Given the description of an element on the screen output the (x, y) to click on. 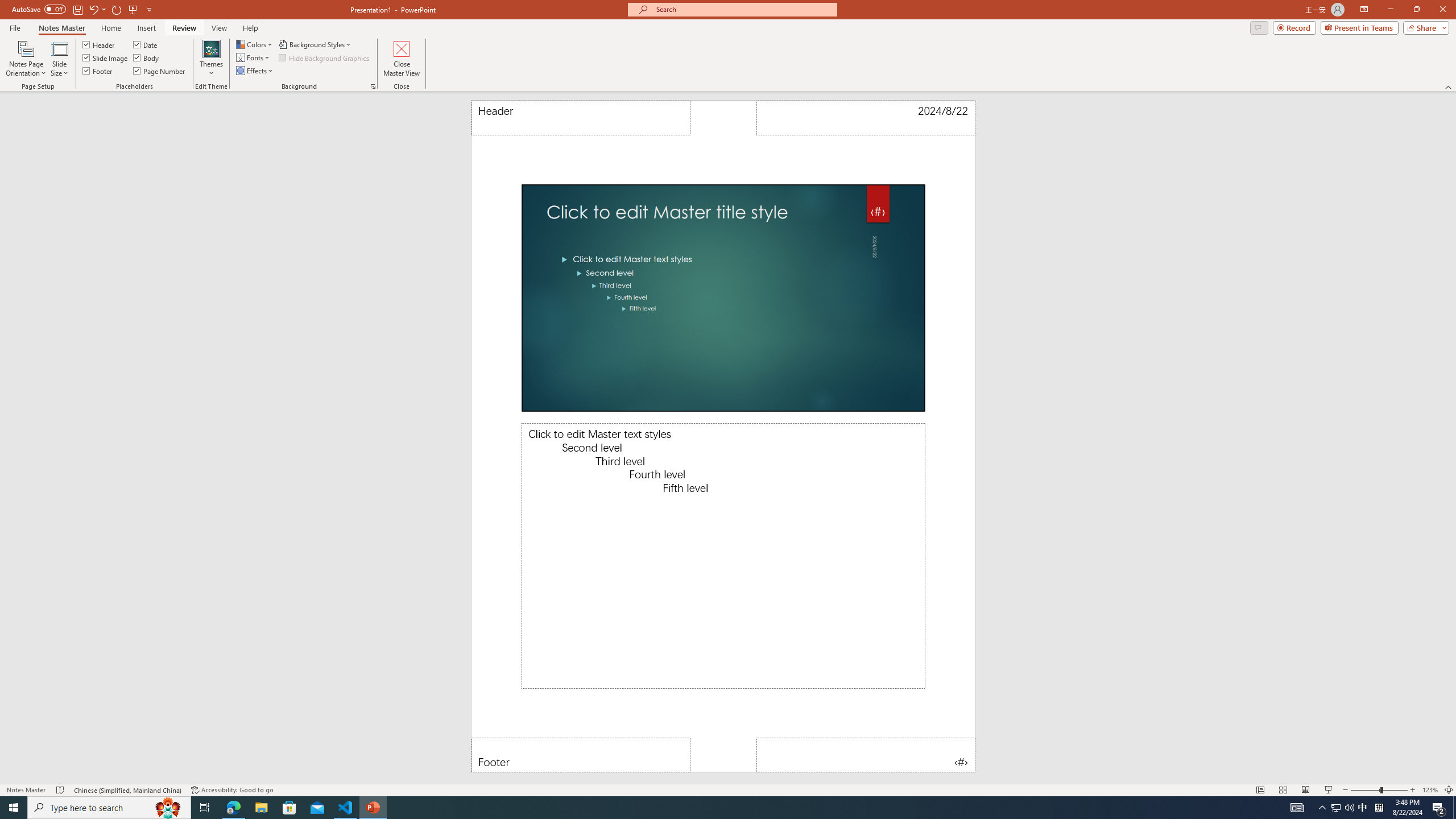
Background Styles (315, 44)
Date (146, 44)
Page Number (160, 69)
Slide Image (105, 56)
Accessibility Checker Accessibility: Good to go (232, 790)
Page Number (866, 754)
Notes Page Orientation (26, 58)
Header (580, 117)
Footer (98, 69)
